Given the description of an element on the screen output the (x, y) to click on. 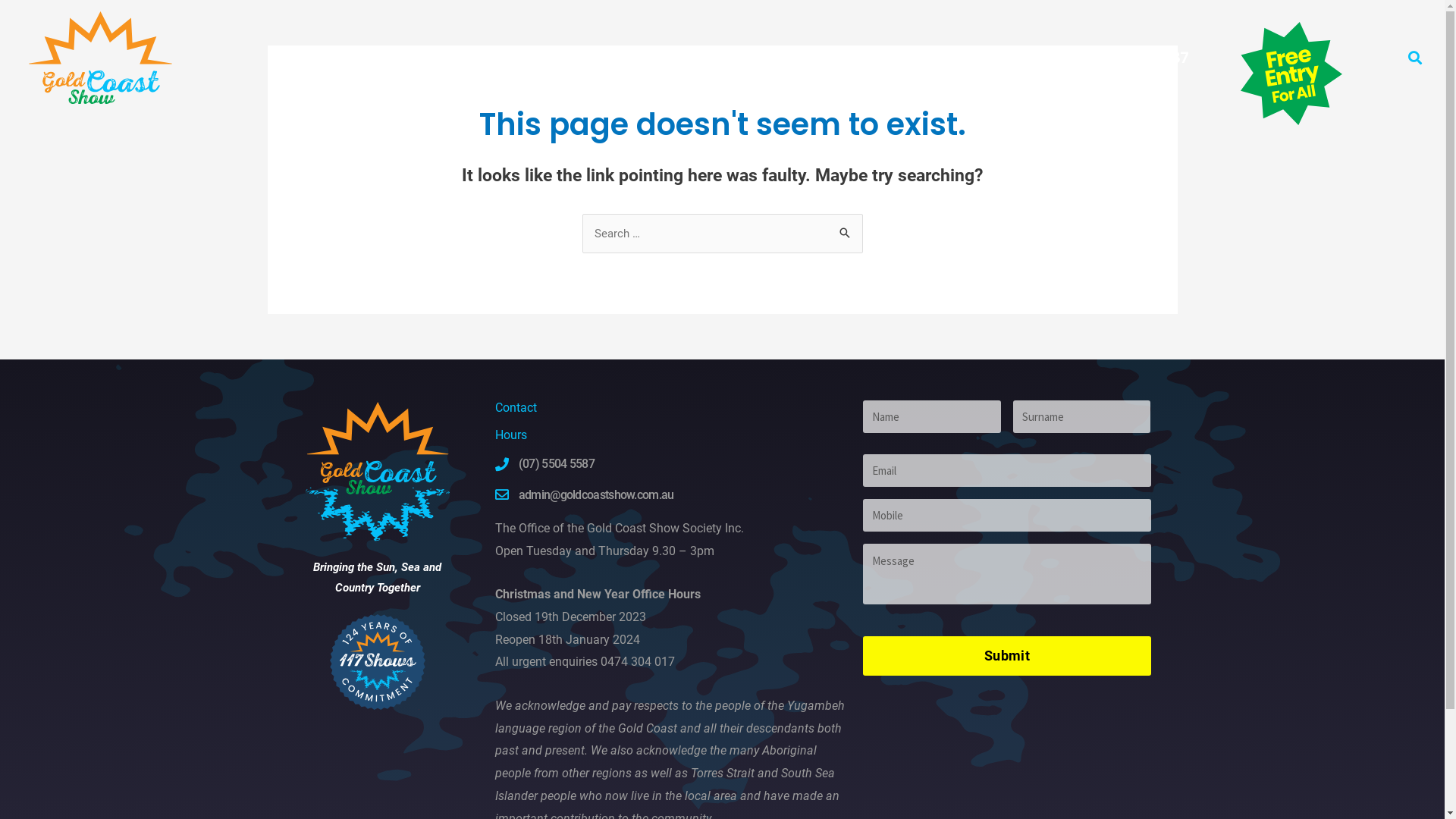
EXPO Element type: text (752, 57)
SPONSORS Element type: text (703, 57)
ABOUT Element type: text (643, 57)
COMPETITIONS Element type: text (566, 57)
HOME Element type: text (313, 57)
admin@goldcoastshow.com.au Element type: text (671, 494)
(07) 5504 5587 Element type: text (671, 463)
Search Element type: text (845, 233)
Submit Element type: text (1006, 655)
(07) 5504 5587 Element type: text (1133, 57)
ENTERTAINMENT Element type: text (464, 57)
